Given the description of an element on the screen output the (x, y) to click on. 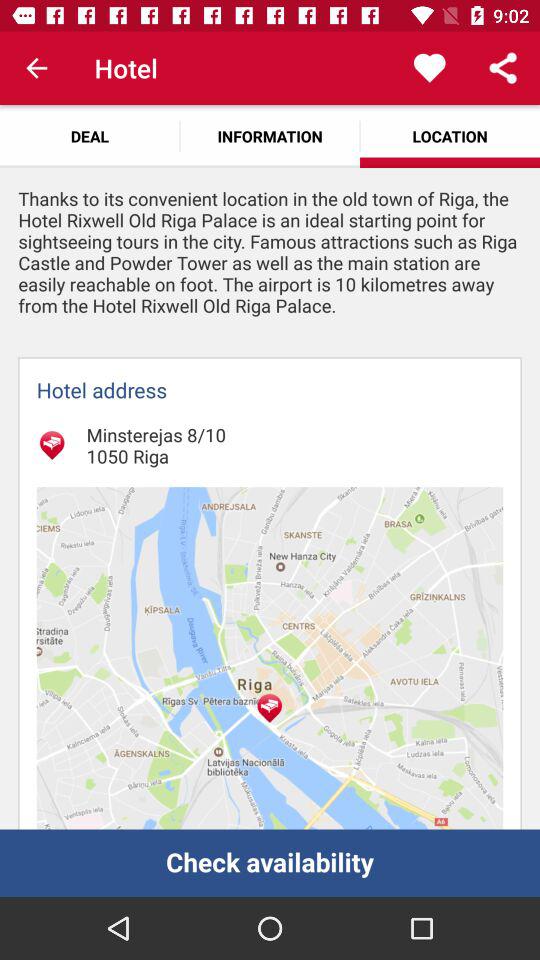
click the app next to the information icon (90, 136)
